Given the description of an element on the screen output the (x, y) to click on. 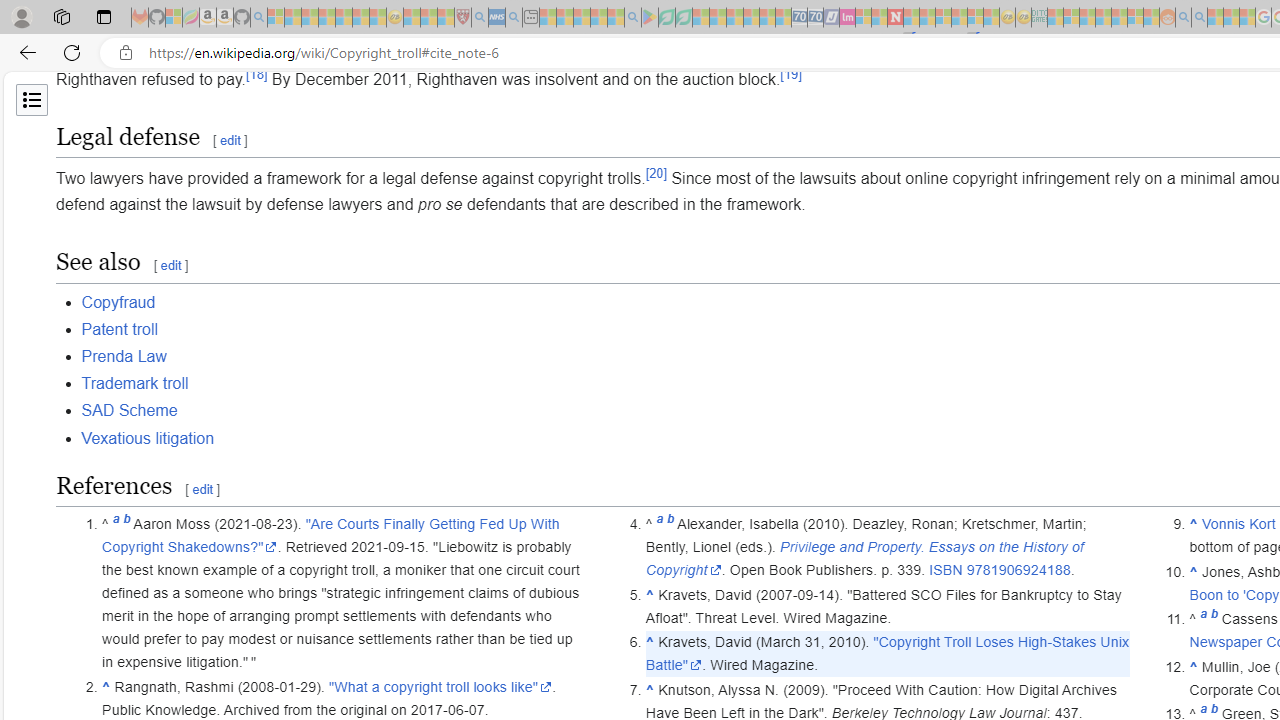
Pets - MSN - Sleeping (598, 17)
[18] (256, 74)
